Given the description of an element on the screen output the (x, y) to click on. 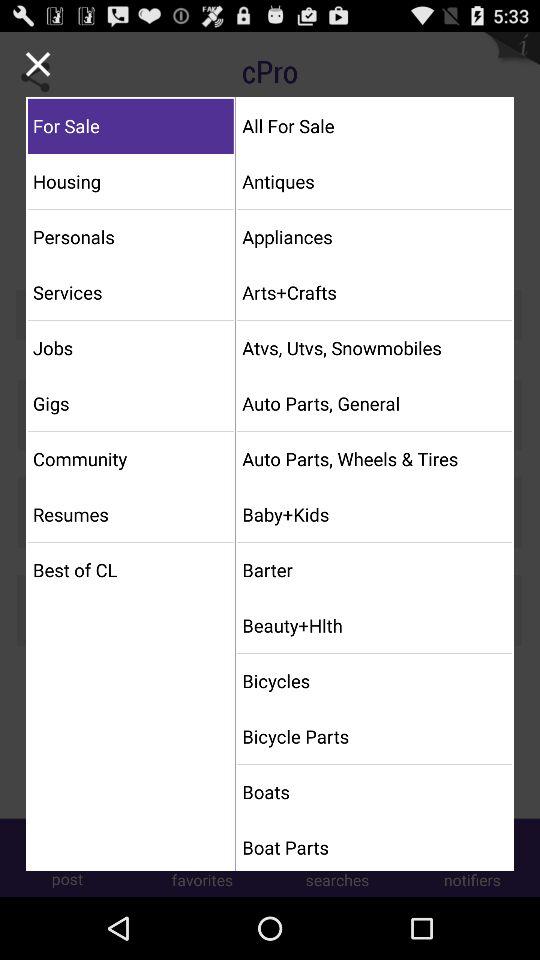
swipe to personals icon (130, 236)
